Given the description of an element on the screen output the (x, y) to click on. 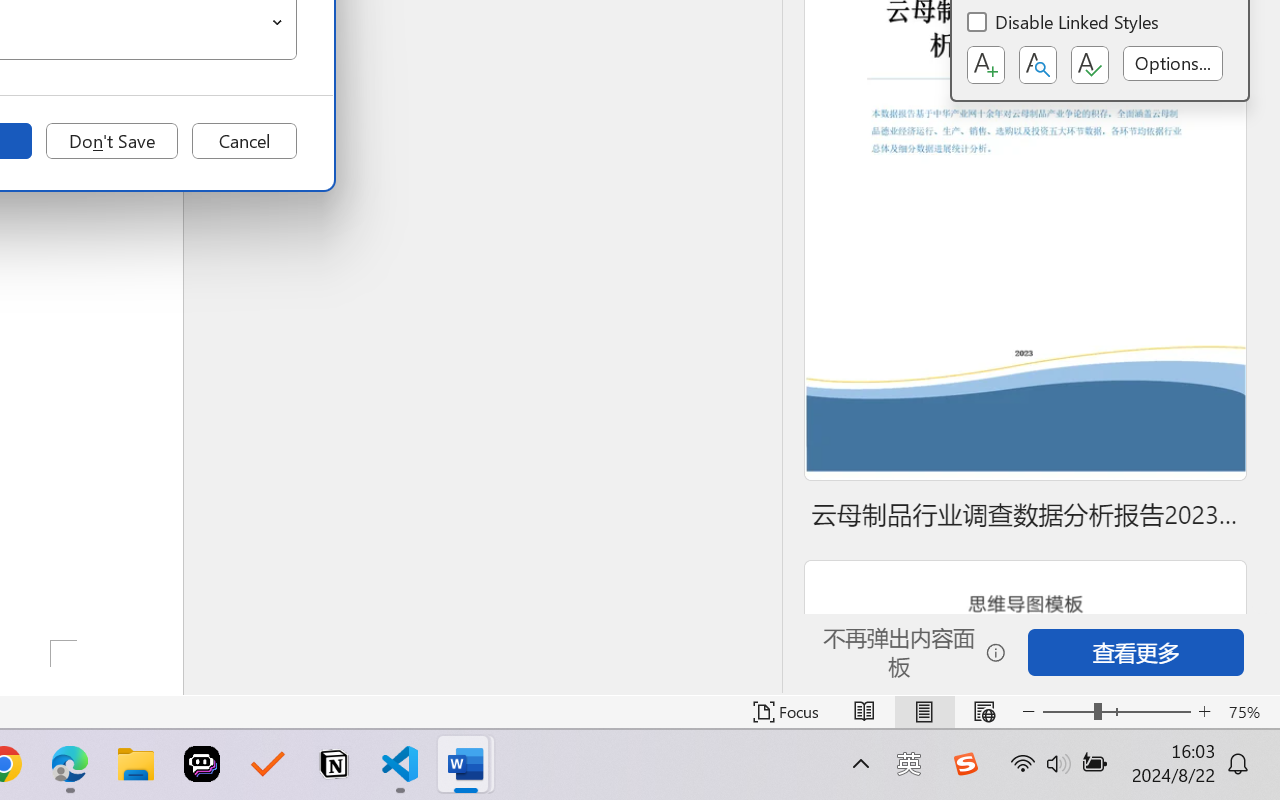
Zoom Out (1067, 712)
Notion (333, 764)
Focus  (786, 712)
Web Layout (984, 712)
Options... (1172, 63)
Zoom (1116, 712)
Print Layout (924, 712)
